Given the description of an element on the screen output the (x, y) to click on. 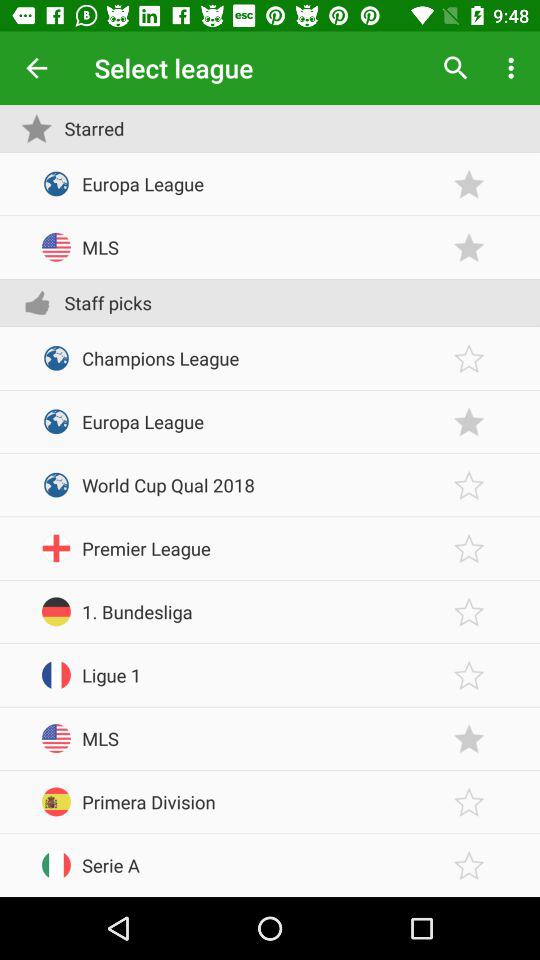
select the league (469, 548)
